Given the description of an element on the screen output the (x, y) to click on. 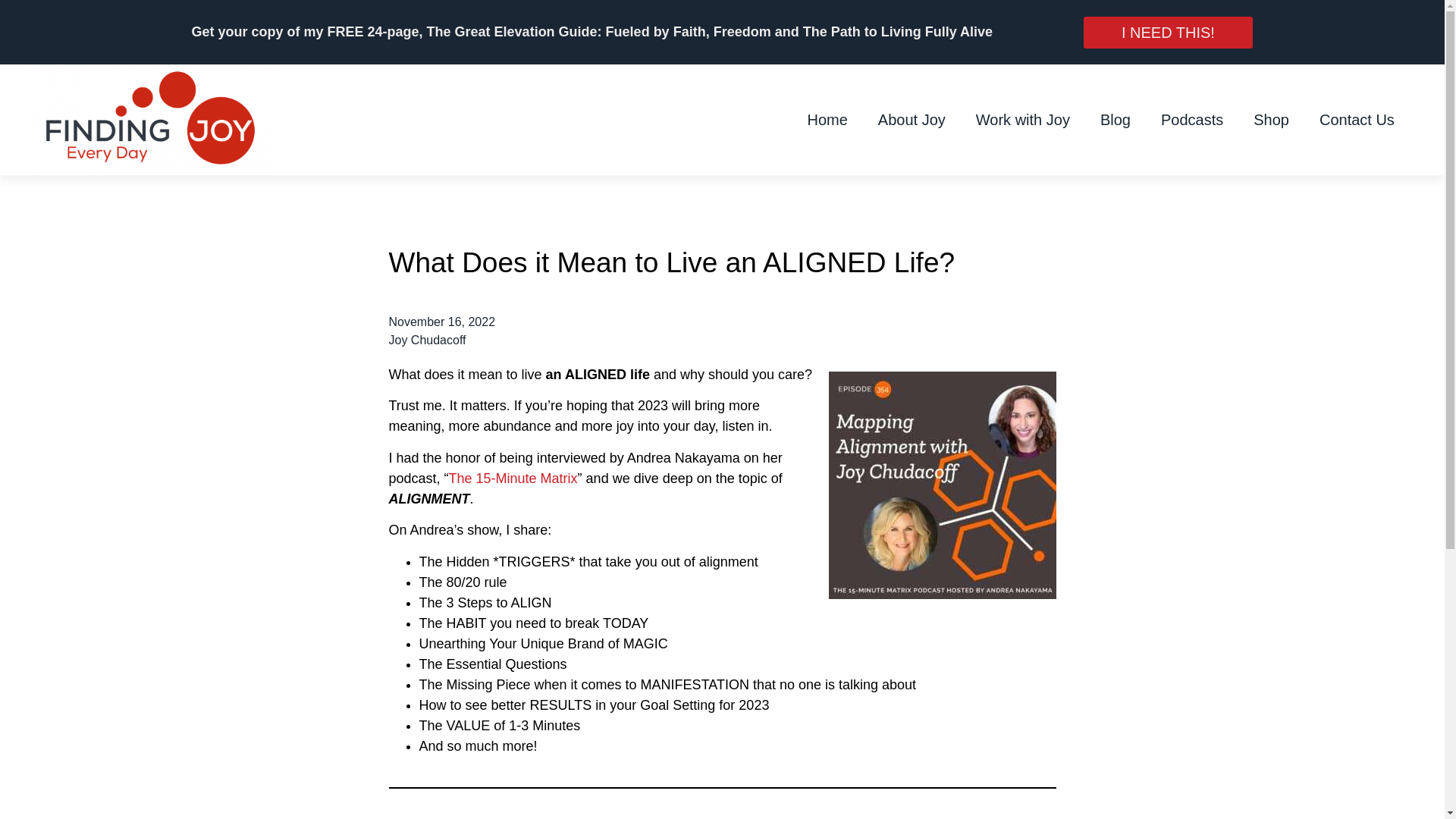
Home (826, 119)
Podcasts (1192, 119)
Joy Chudacoff (426, 340)
Work with Joy (1022, 119)
About Joy (911, 119)
Contact Us (1356, 119)
Blog (1114, 119)
I NEED THIS! (1167, 32)
The 15-Minute Matrix (513, 478)
November 16, 2022 (441, 321)
Shop (1271, 119)
